Given the description of an element on the screen output the (x, y) to click on. 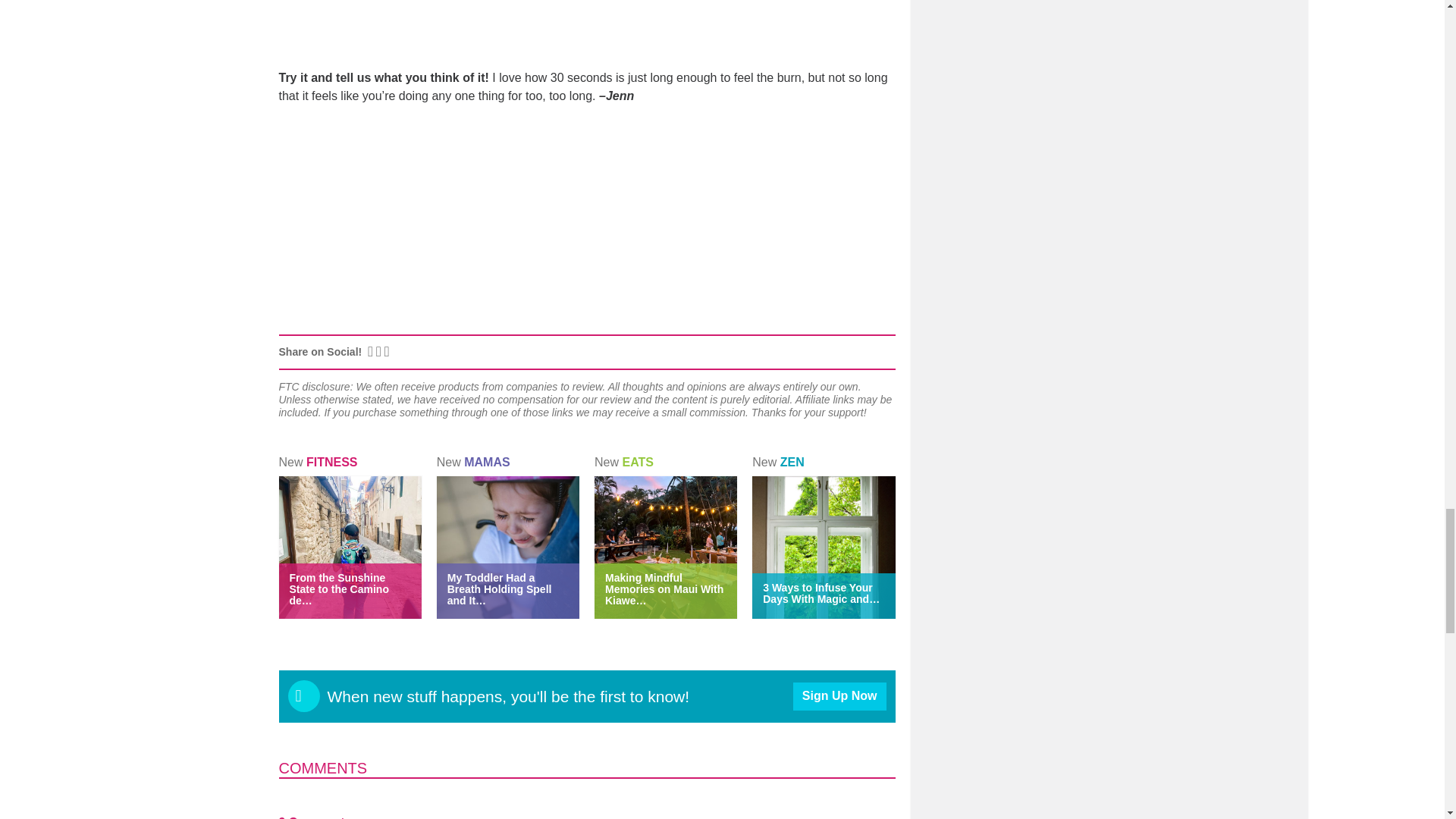
My Toddler Had a Breath Holding Spell and It Was Scary AF (498, 588)
Making Mindful Memories on Maui With Kiawe Outdoor (664, 588)
From the Sunshine State to the Camino de Santiago (338, 588)
3 Ways to Infuse Your Days With Magic and Meaning (820, 593)
